Given the description of an element on the screen output the (x, y) to click on. 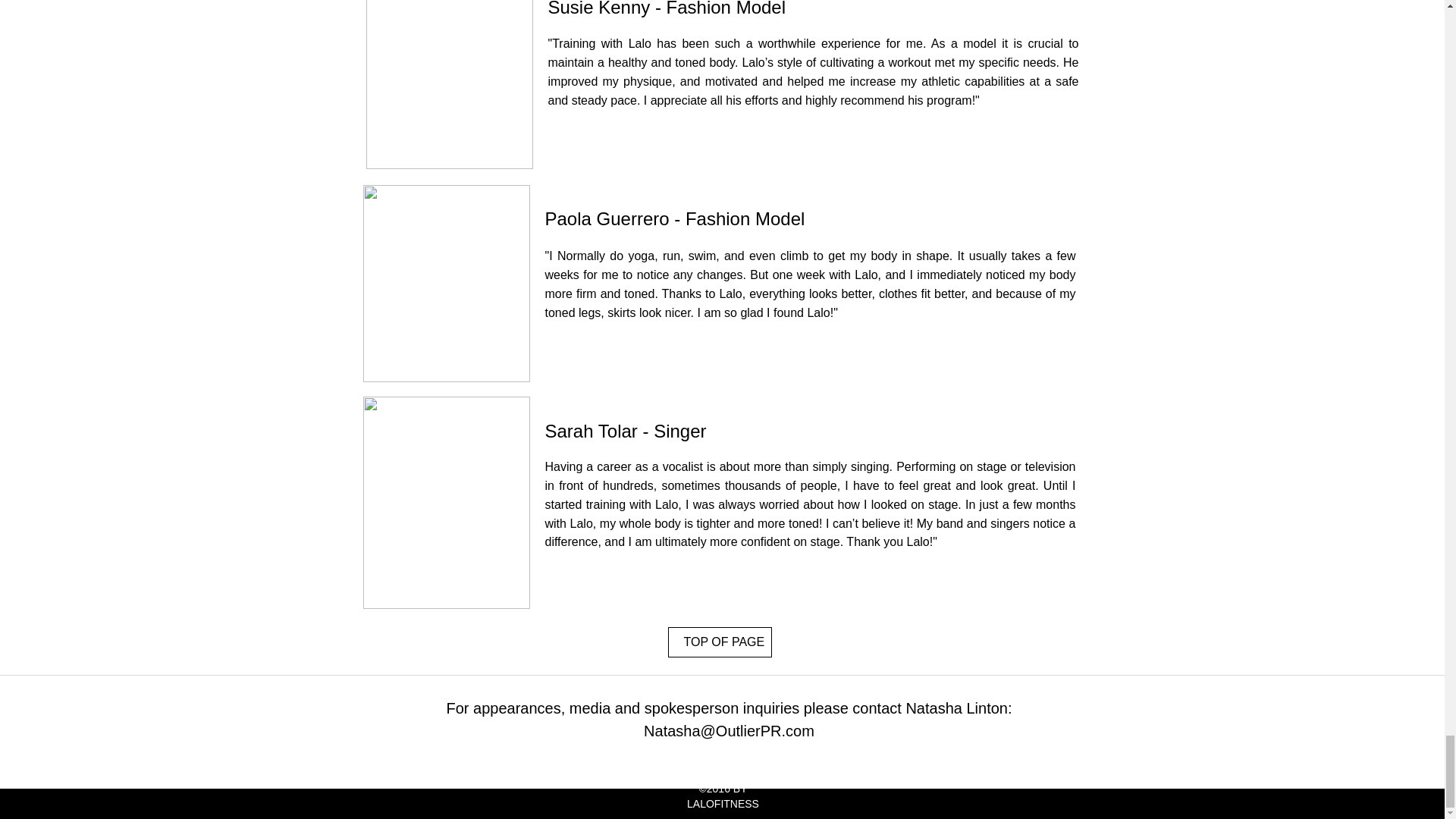
TOP OF PAGE (718, 642)
